Given the description of an element on the screen output the (x, y) to click on. 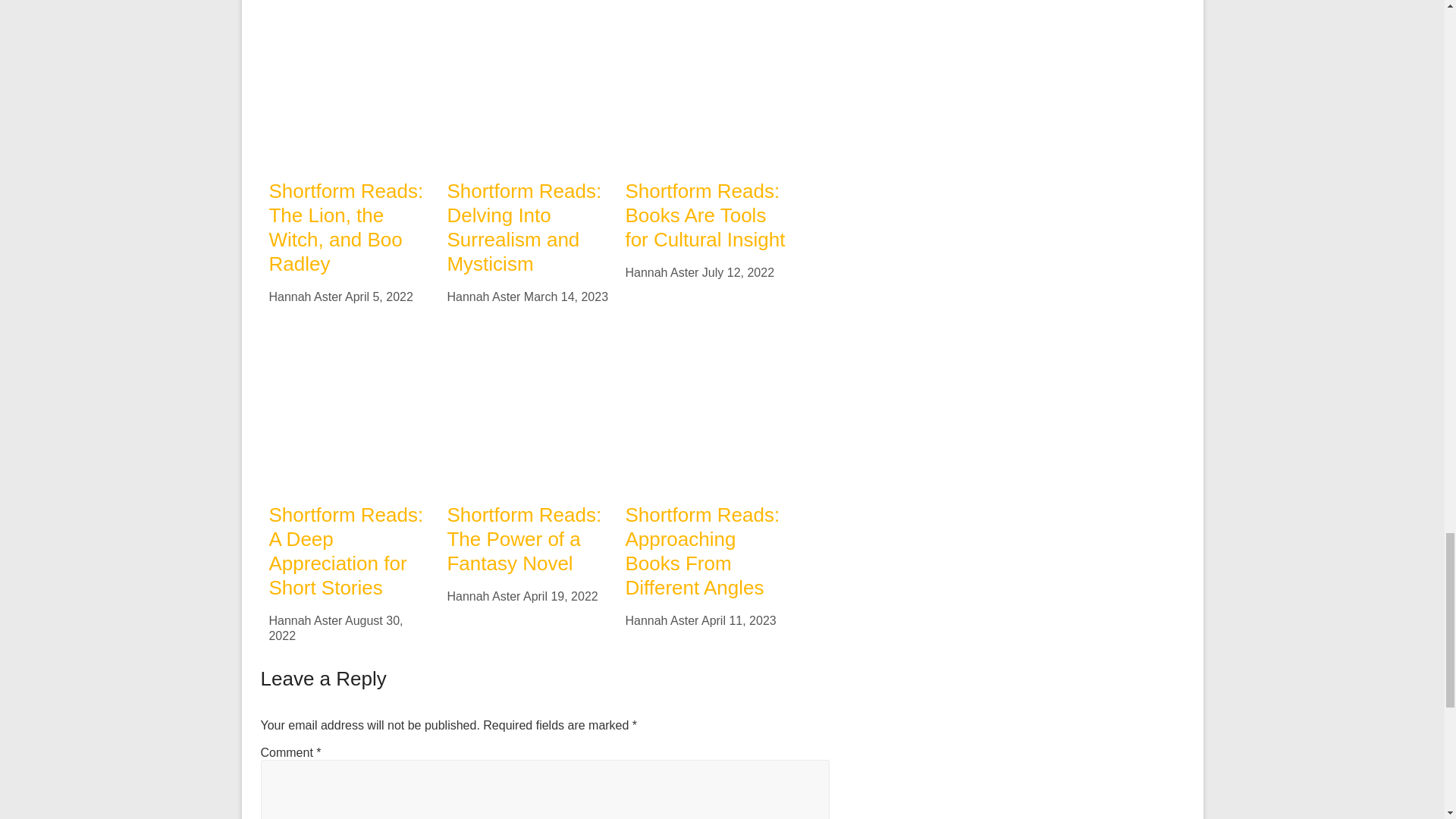
Shortform Reads: A Deep Appreciation for Short Stories (348, 334)
Shortform Reads: Delving Into Surrealism and Mysticism (527, 83)
Shortform Reads: The Lion, the Witch, and Boo Radley (345, 227)
Shortform Reads: Delving Into Surrealism and Mysticism (523, 227)
July 12, 2022 (737, 272)
April 5, 2022 (379, 296)
Hannah Aster (482, 296)
Shortform Reads: Books Are Tools for Cultural Insight (704, 214)
March 14, 2023 (566, 296)
Shortform Reads: A Deep Appreciation for Short Stories (345, 550)
Hannah Aster (482, 595)
Shortform Reads: The Lion, the Witch, and Boo Radley (345, 227)
Shortform Reads: Delving Into Surrealism and Mysticism (527, 10)
9:00 am (737, 272)
Shortform Reads: The Lion, the Witch, and Boo Radley (348, 10)
